Given the description of an element on the screen output the (x, y) to click on. 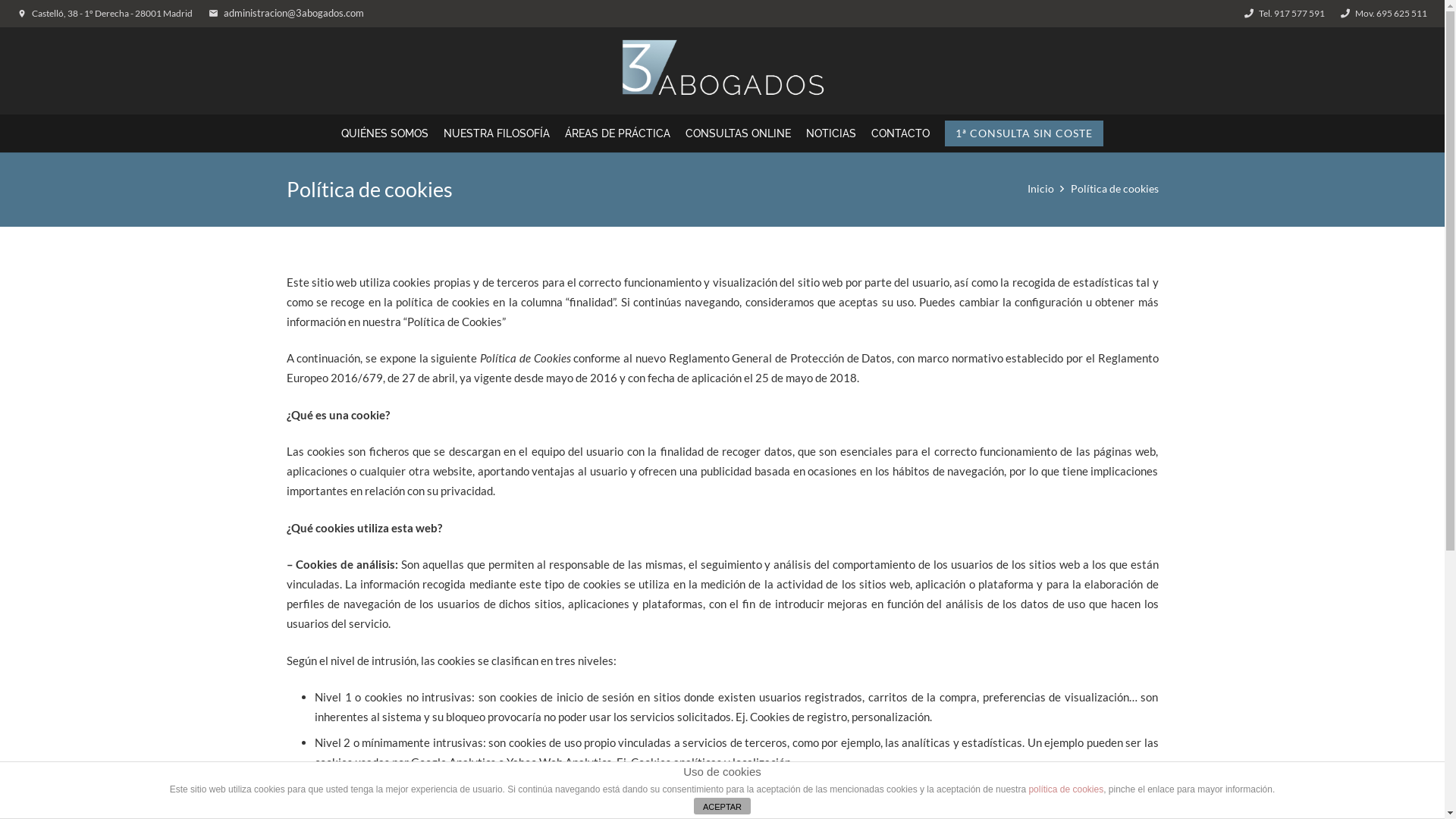
CONTACTO Element type: text (900, 133)
CONSULTAS ONLINE Element type: text (737, 133)
NOTICIAS Element type: text (830, 133)
Inicio Element type: text (1040, 188)
ACEPTAR Element type: text (721, 805)
